Given the description of an element on the screen output the (x, y) to click on. 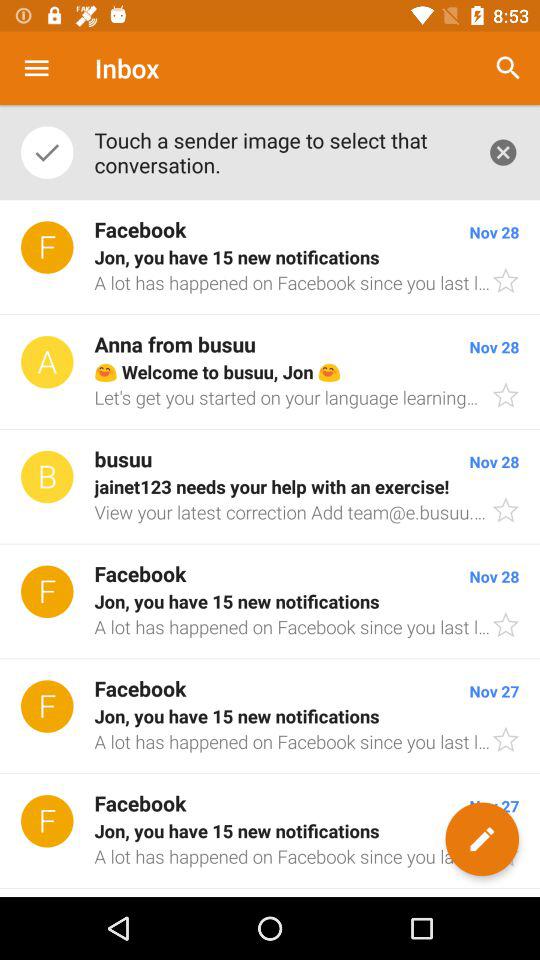
launch item to the right of touch a sender icon (508, 67)
